Given the description of an element on the screen output the (x, y) to click on. 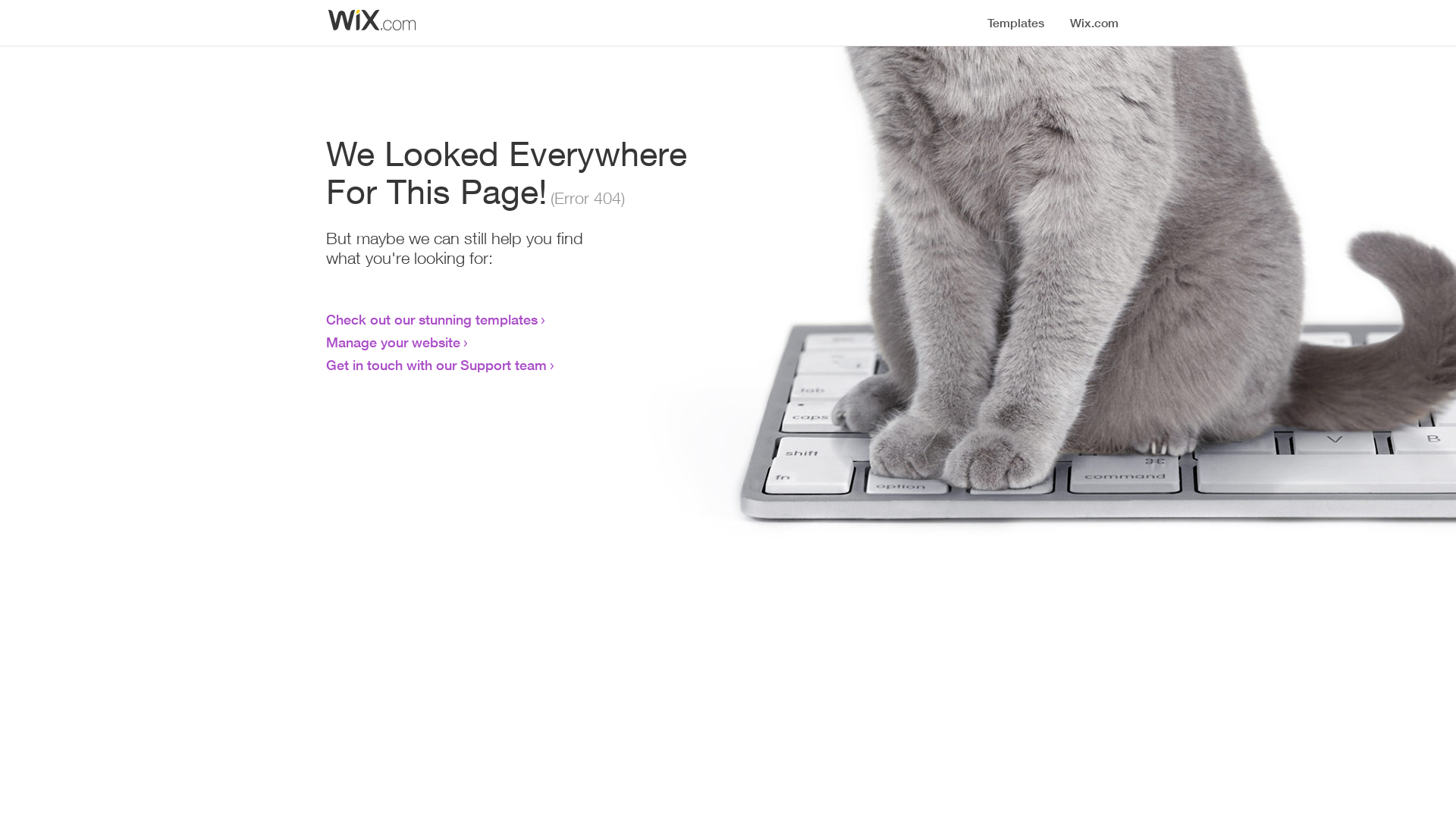
Manage your website Element type: text (393, 341)
Check out our stunning templates Element type: text (431, 318)
Get in touch with our Support team Element type: text (436, 364)
